Given the description of an element on the screen output the (x, y) to click on. 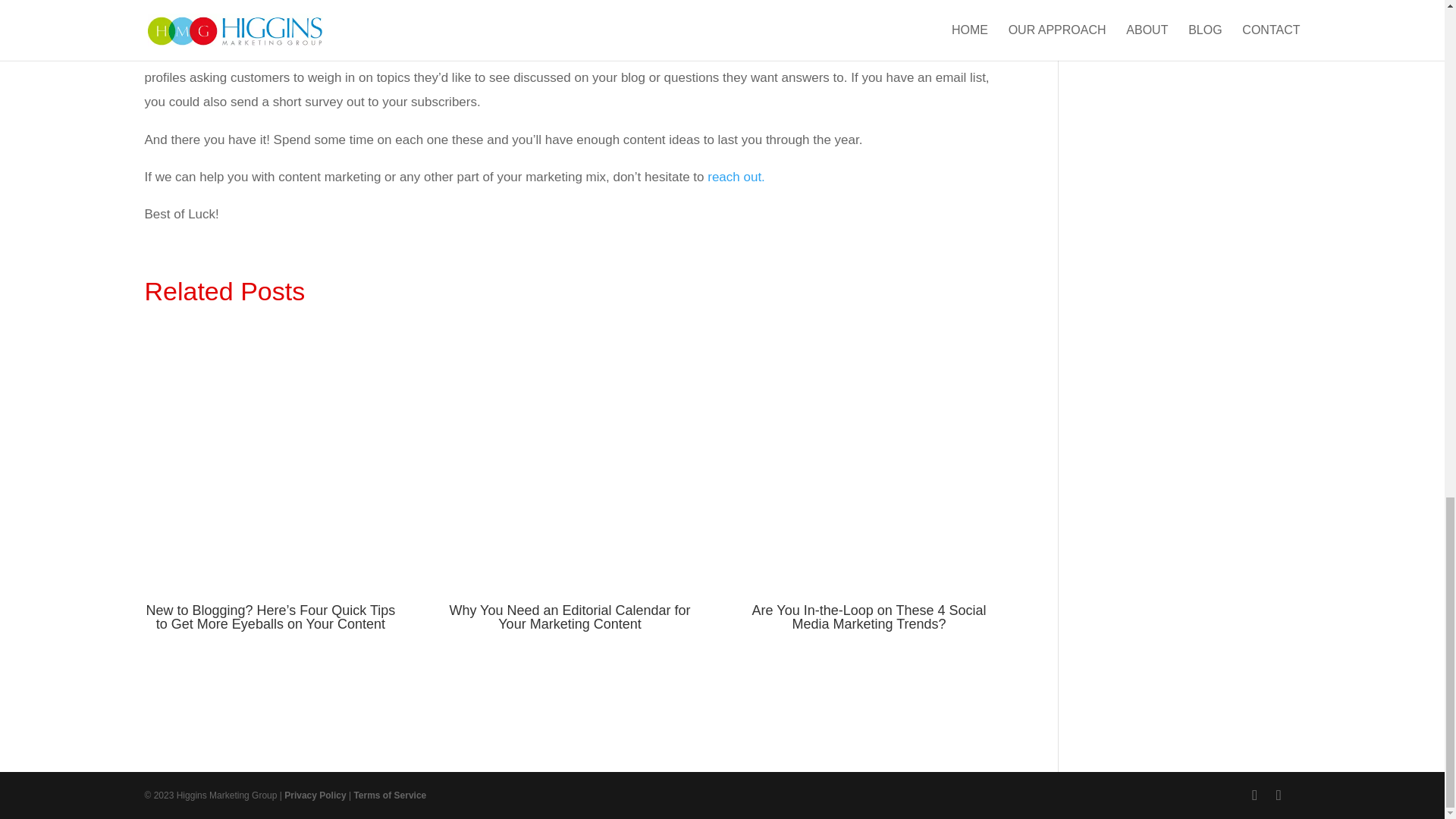
Terms of Service (389, 795)
reach out. (736, 176)
Privacy Policy (314, 795)
